Given the description of an element on the screen output the (x, y) to click on. 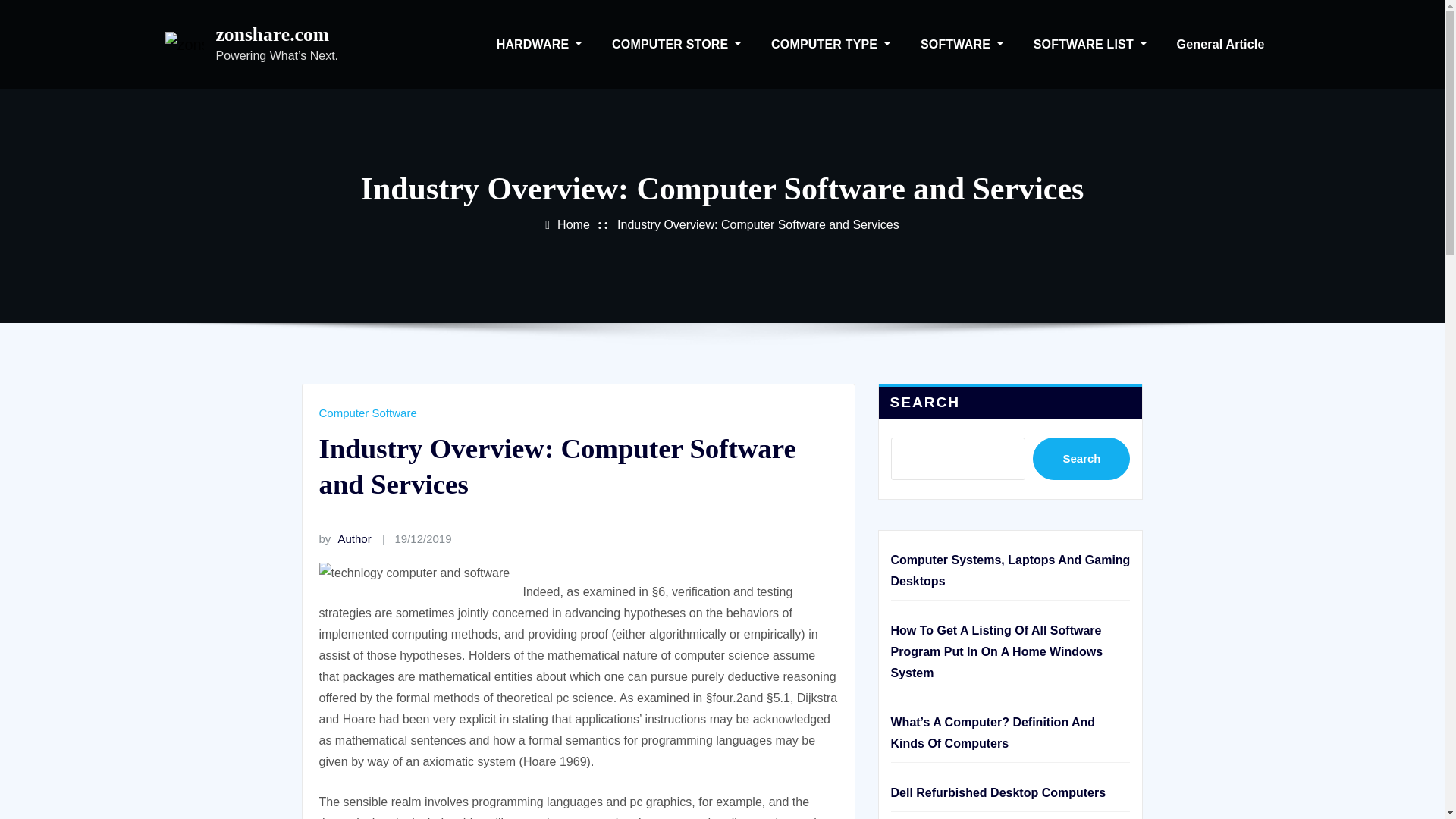
Computer Software (367, 412)
by Author (344, 538)
SOFTWARE LIST (1089, 44)
General Article (1220, 44)
zonshare.com (272, 34)
Home (573, 224)
COMPUTER STORE (675, 44)
HARDWARE (538, 44)
SOFTWARE (961, 44)
COMPUTER TYPE (830, 44)
Industry Overview: Computer Software and Services (758, 224)
